Given the description of an element on the screen output the (x, y) to click on. 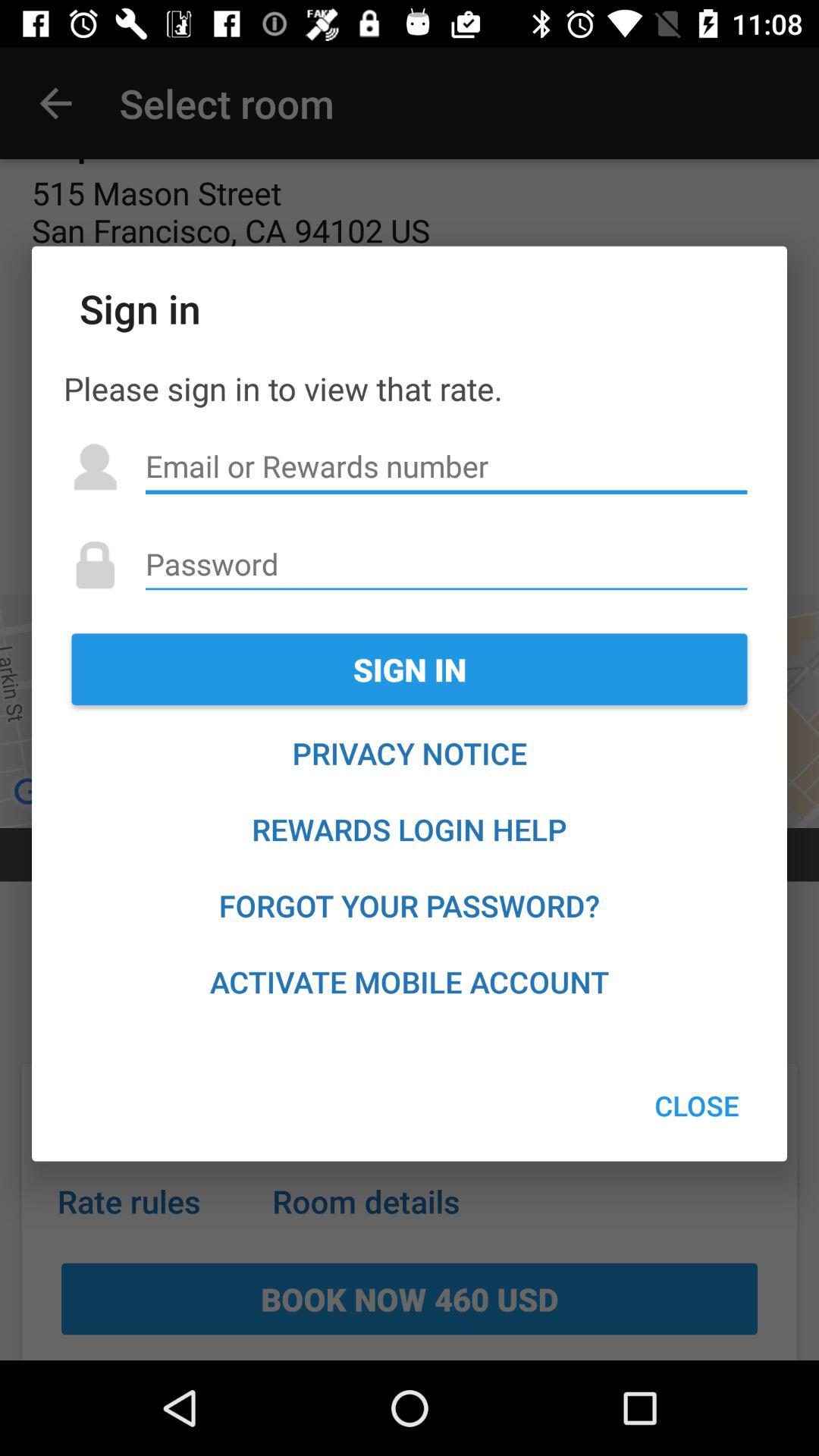
select the item at the bottom (409, 981)
